Given the description of an element on the screen output the (x, y) to click on. 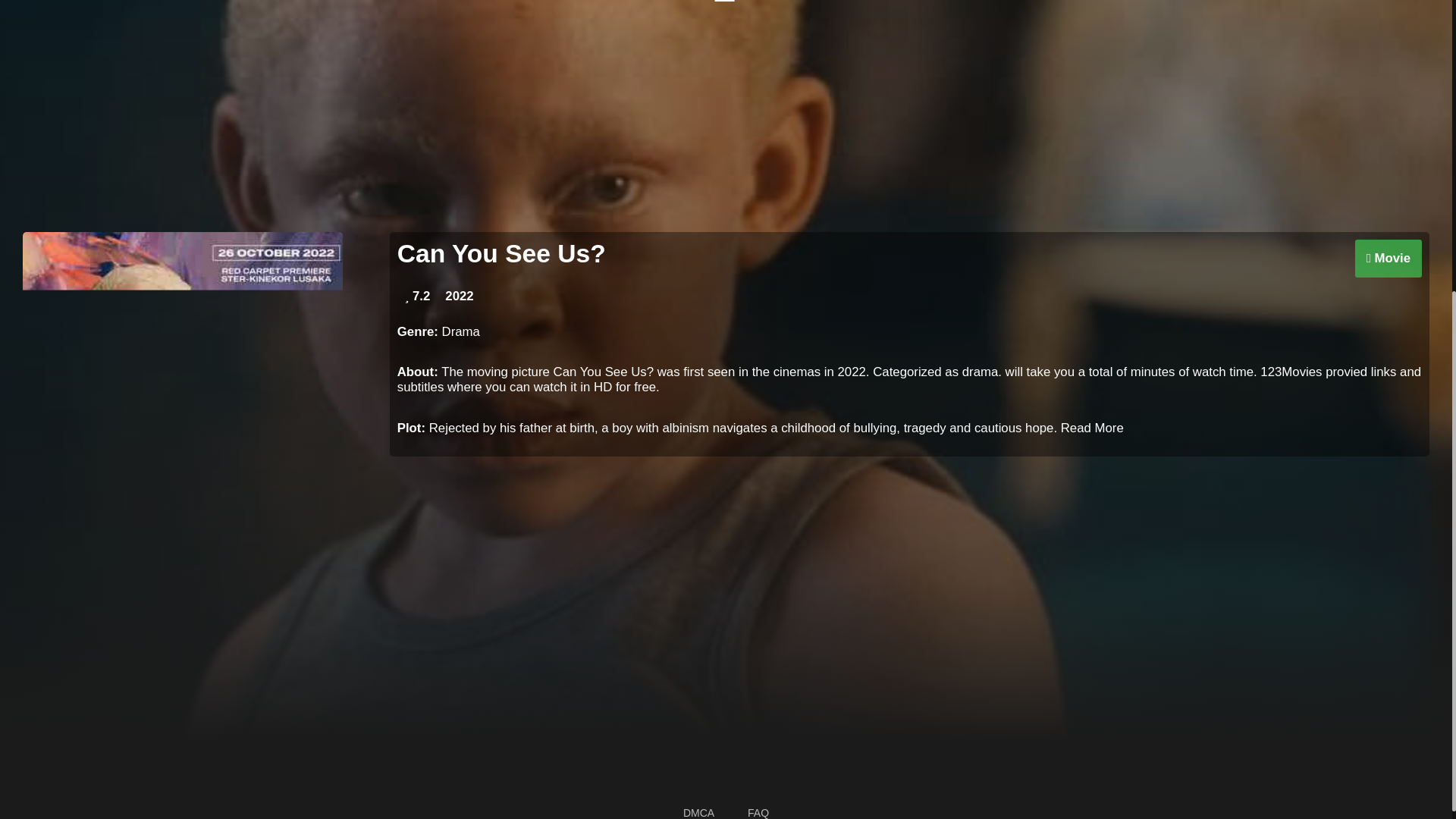
Read More (1092, 427)
Rating (417, 296)
Release date (459, 296)
